Given the description of an element on the screen output the (x, y) to click on. 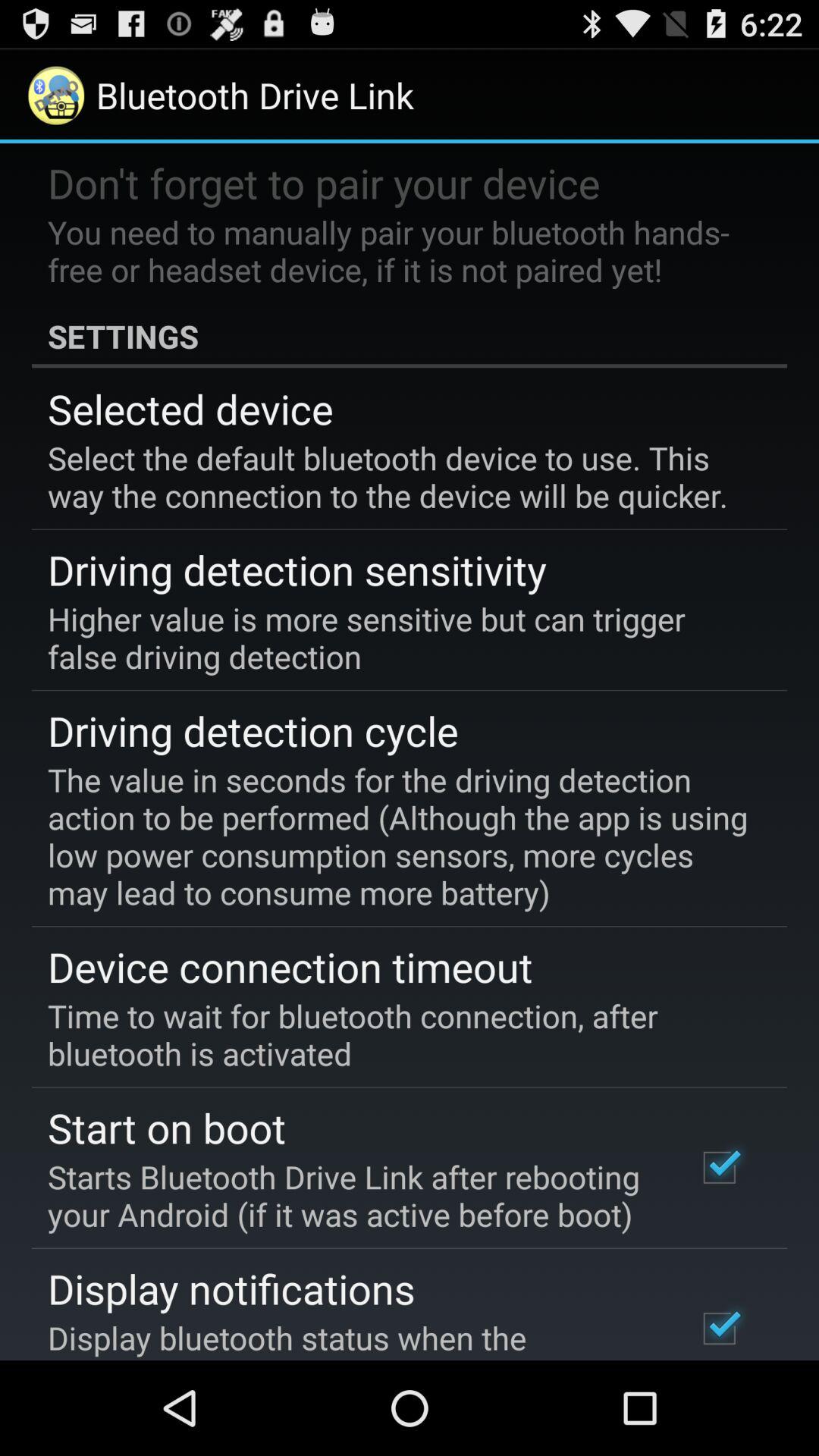
open you need to app (399, 250)
